Given the description of an element on the screen output the (x, y) to click on. 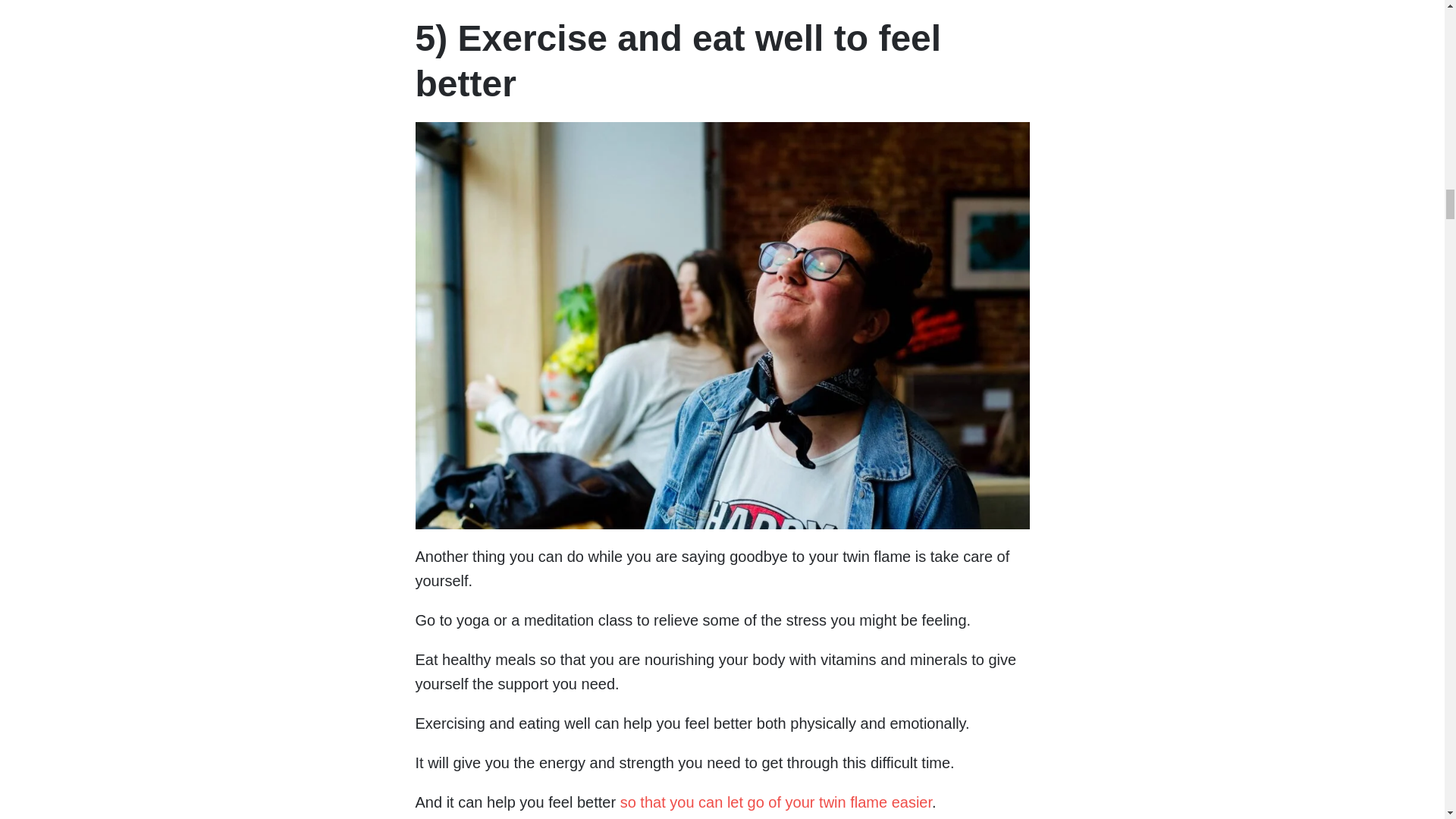
so that you can let go of your twin flame easier (775, 801)
